Given the description of an element on the screen output the (x, y) to click on. 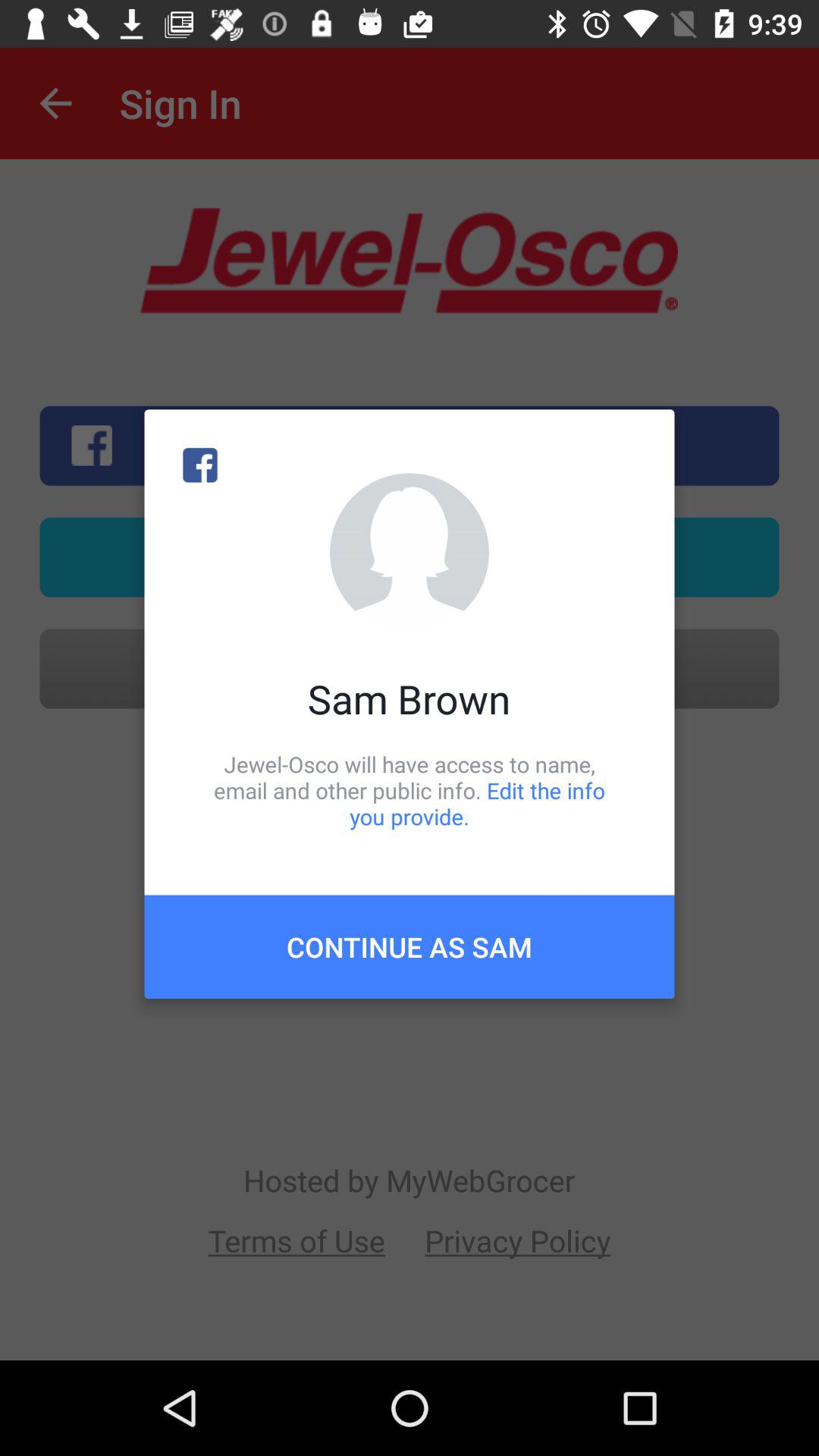
scroll until the jewel osco will icon (409, 790)
